Given the description of an element on the screen output the (x, y) to click on. 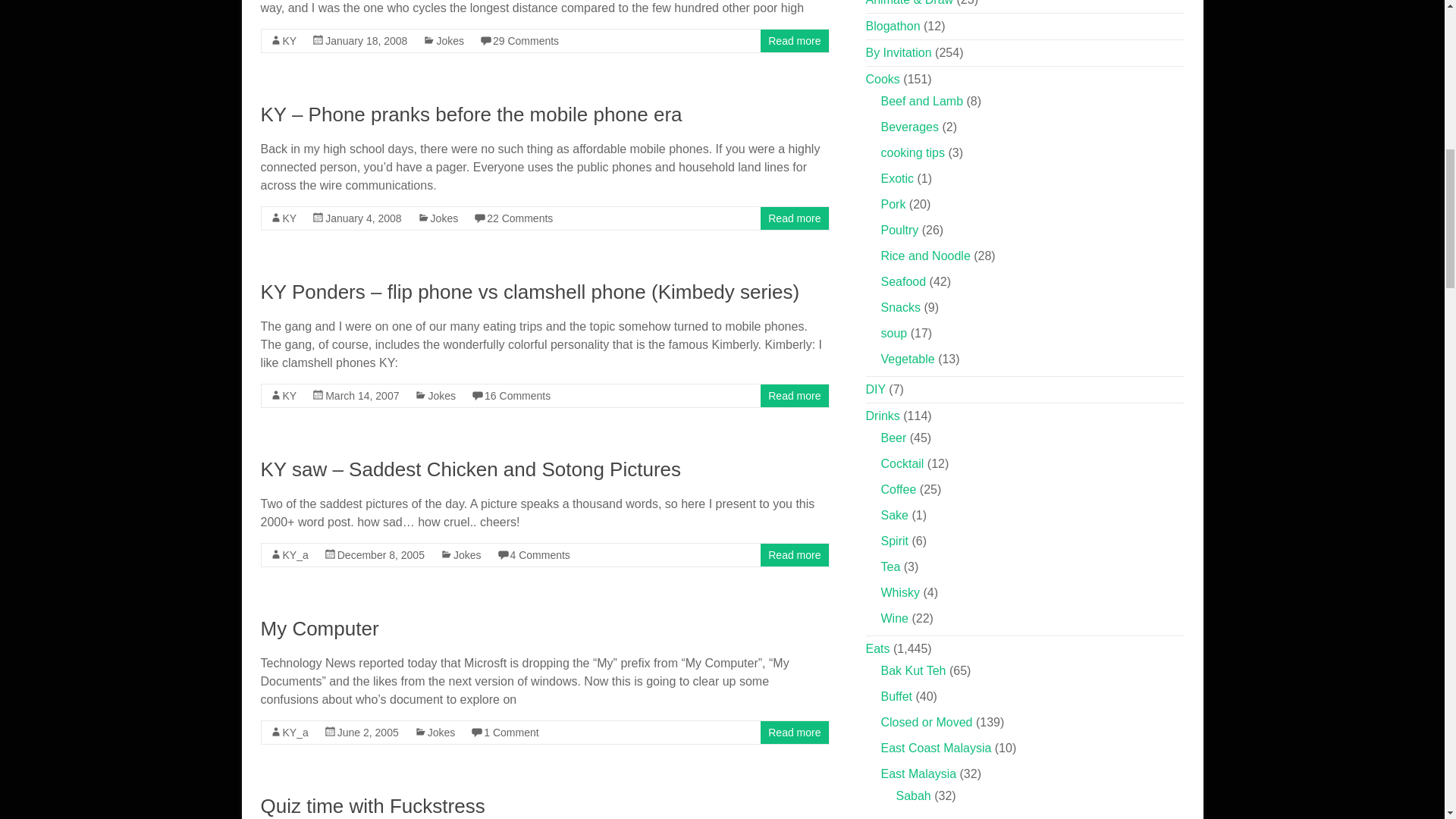
10:37 am (381, 554)
KY (289, 218)
January 18, 2008 (365, 40)
22 Comments (519, 218)
January 4, 2008 (362, 218)
Read more (794, 218)
KY (289, 40)
9:32 am (362, 218)
Read more (794, 40)
KY (289, 395)
